Given the description of an element on the screen output the (x, y) to click on. 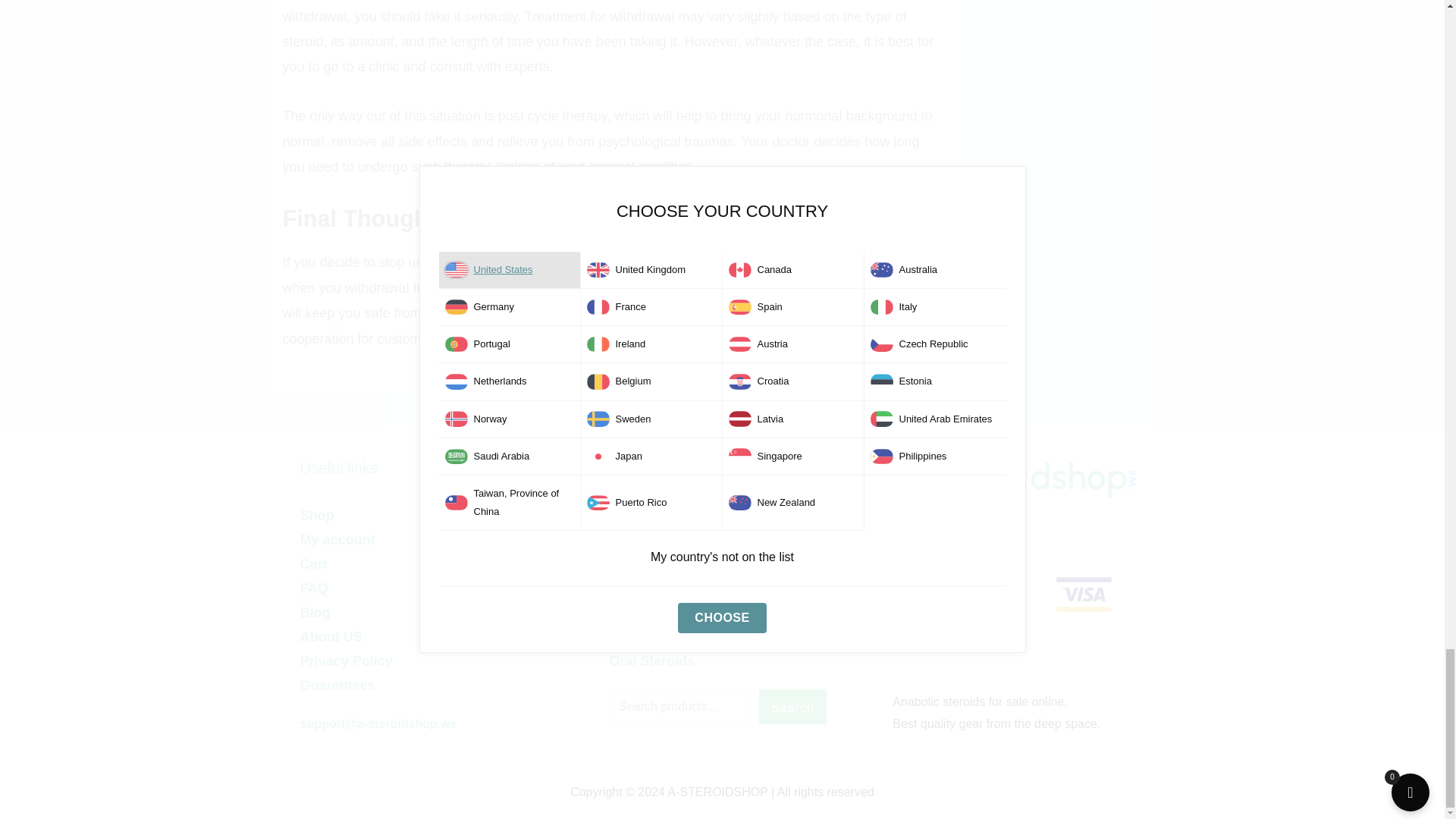
Mister Olympia Shop (996, 477)
